Given the description of an element on the screen output the (x, y) to click on. 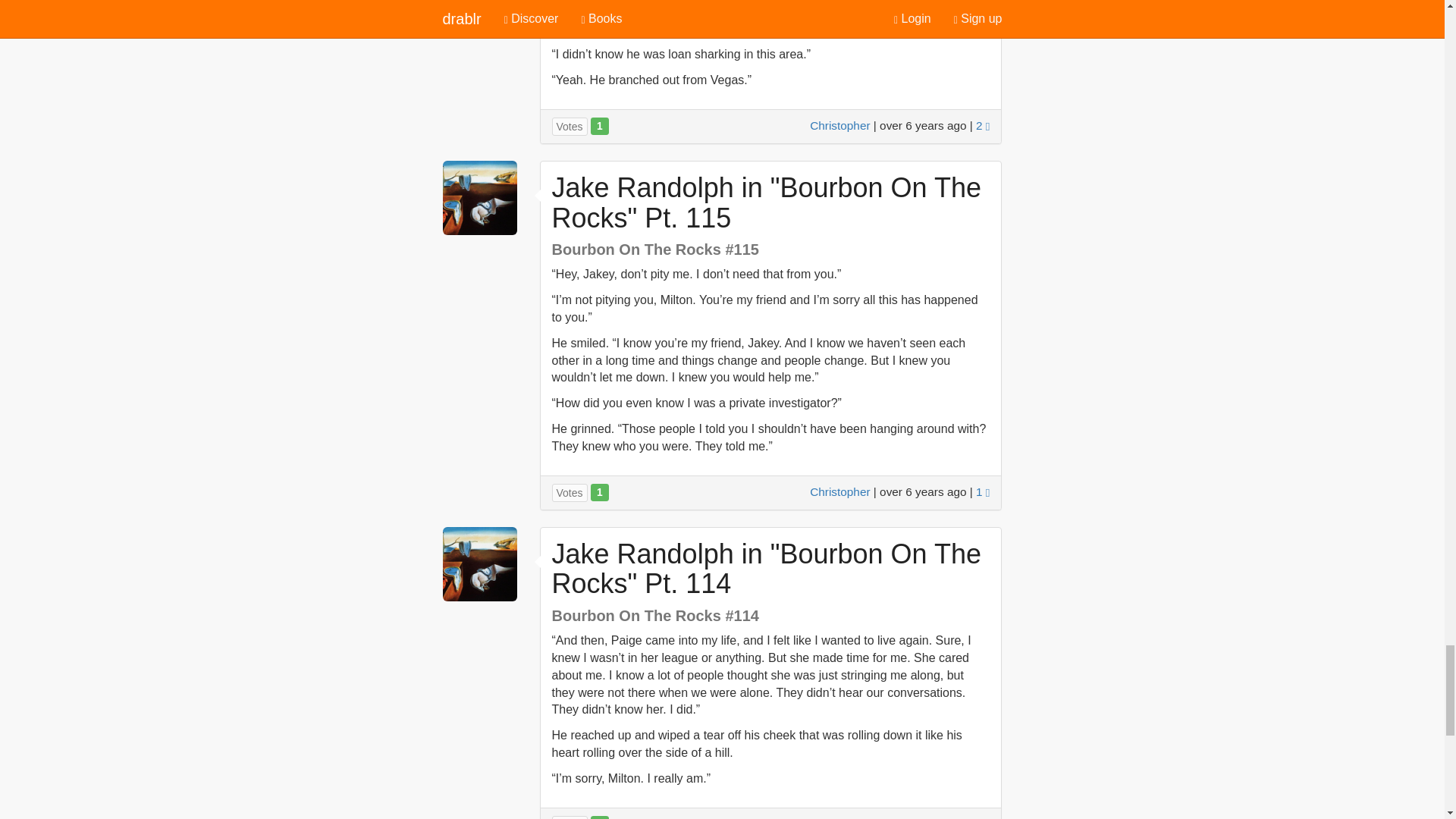
Comments (982, 124)
Comments (982, 491)
